Given the description of an element on the screen output the (x, y) to click on. 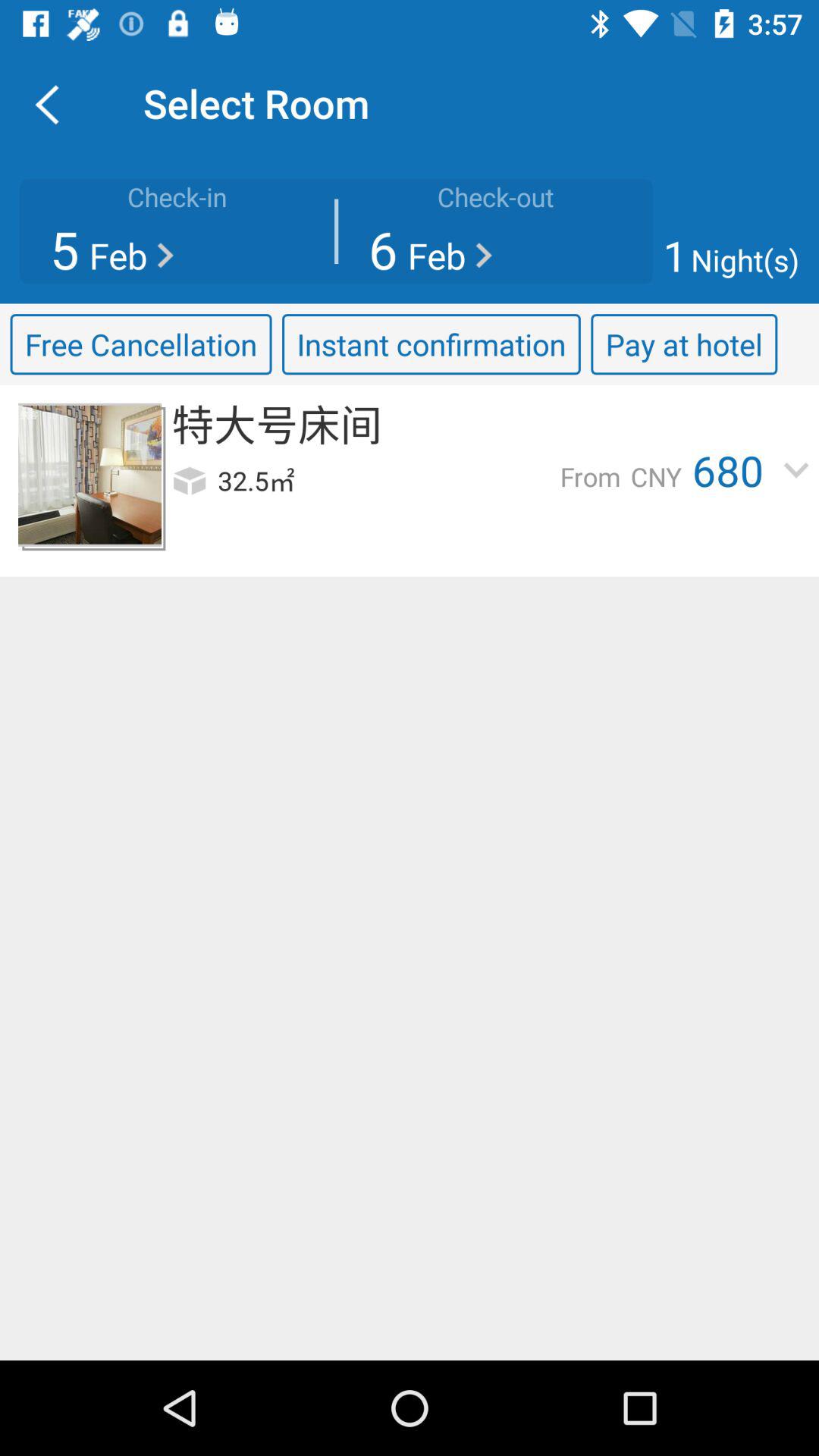
view room details (89, 474)
